Given the description of an element on the screen output the (x, y) to click on. 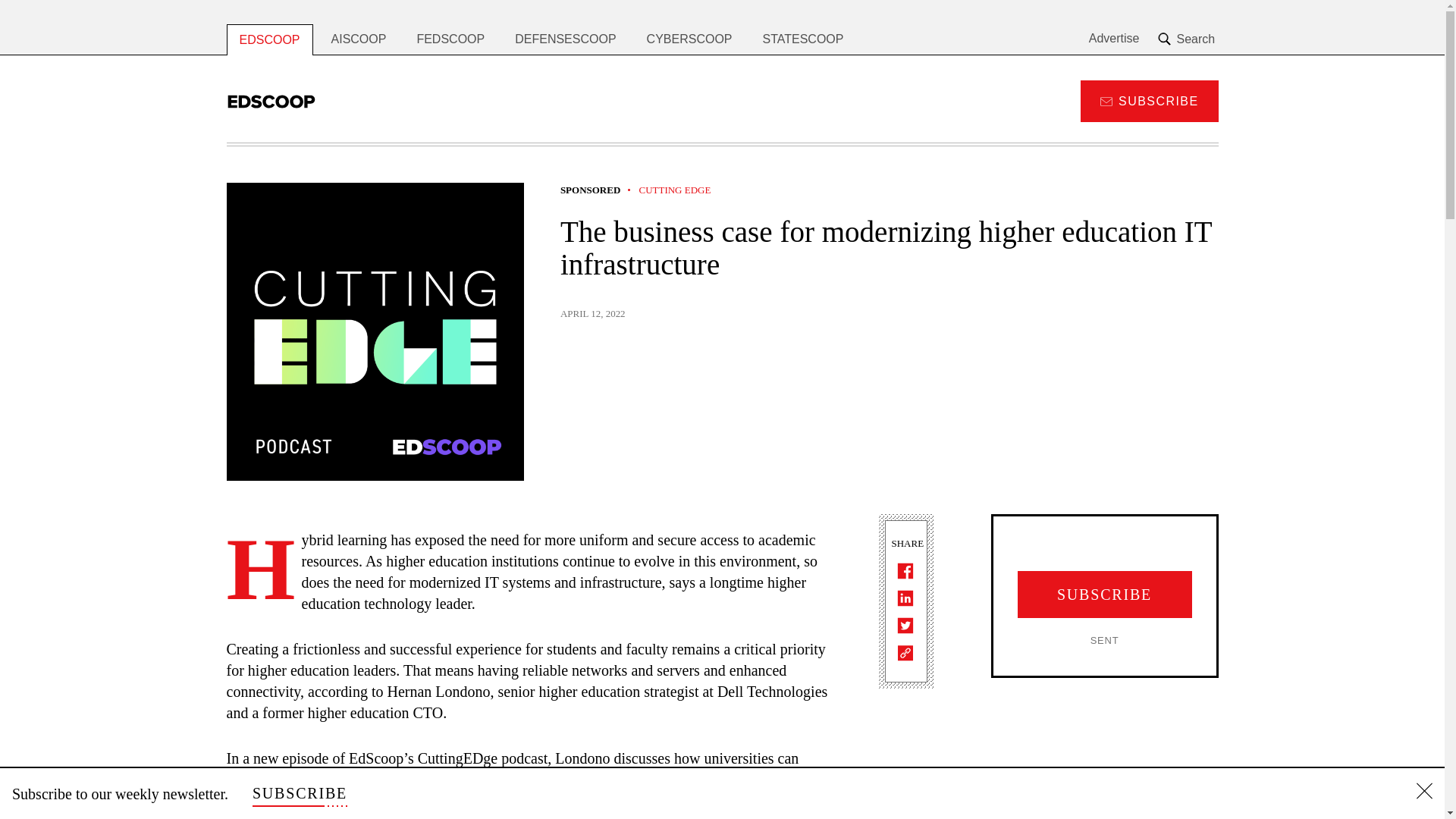
FEDSCOOP (450, 39)
CYBERSCOOP (689, 39)
SUBSCRIBE (299, 793)
EDSCOOP (269, 39)
STATESCOOP (803, 39)
SUBSCRIBE (1148, 101)
DEFENSESCOOP (564, 39)
AISCOOP (358, 39)
Advertise (1114, 38)
Search (1187, 38)
